Given the description of an element on the screen output the (x, y) to click on. 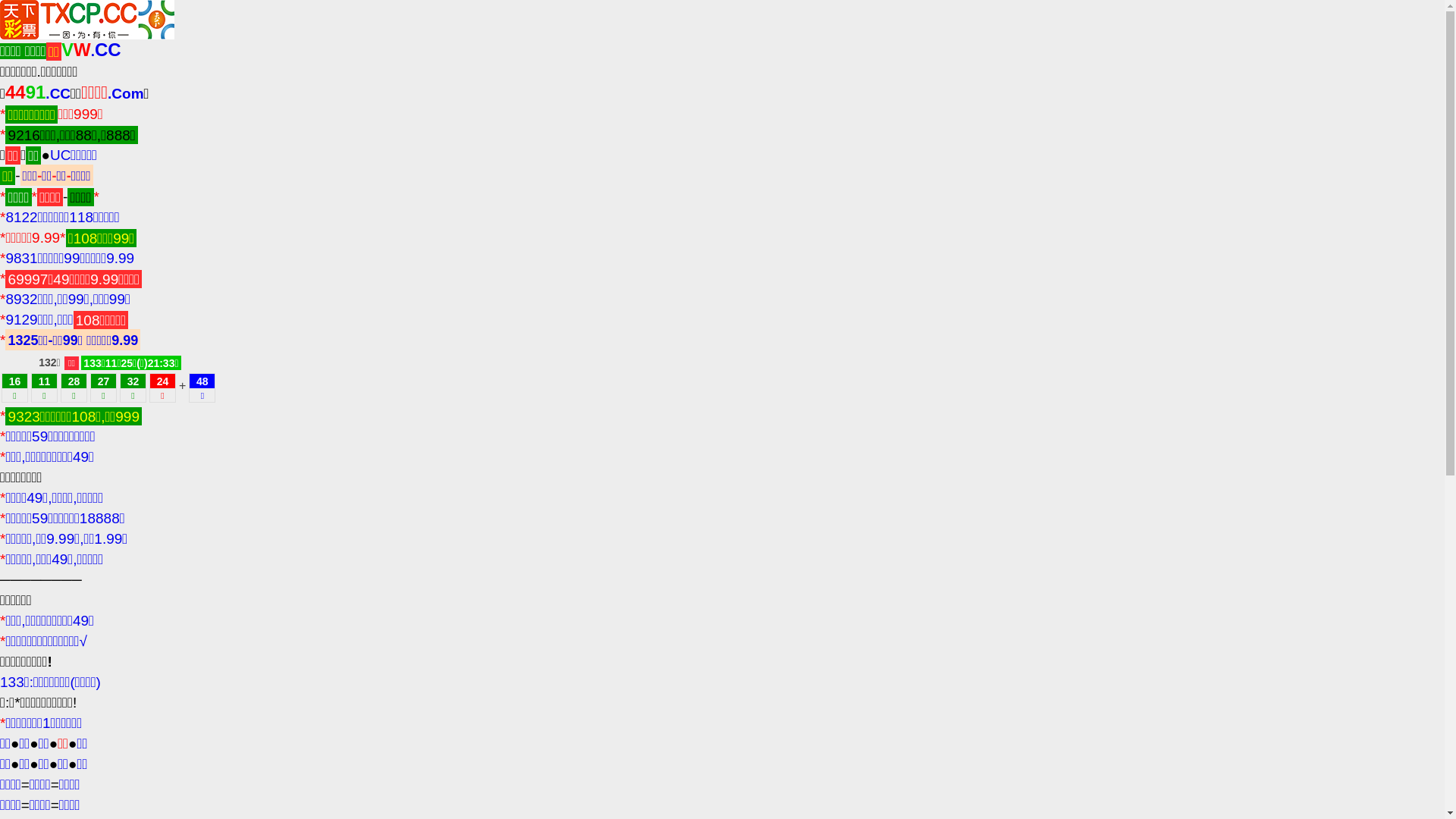
VW.CC Element type: text (91, 51)
4491.CC Element type: text (37, 93)
